Given the description of an element on the screen output the (x, y) to click on. 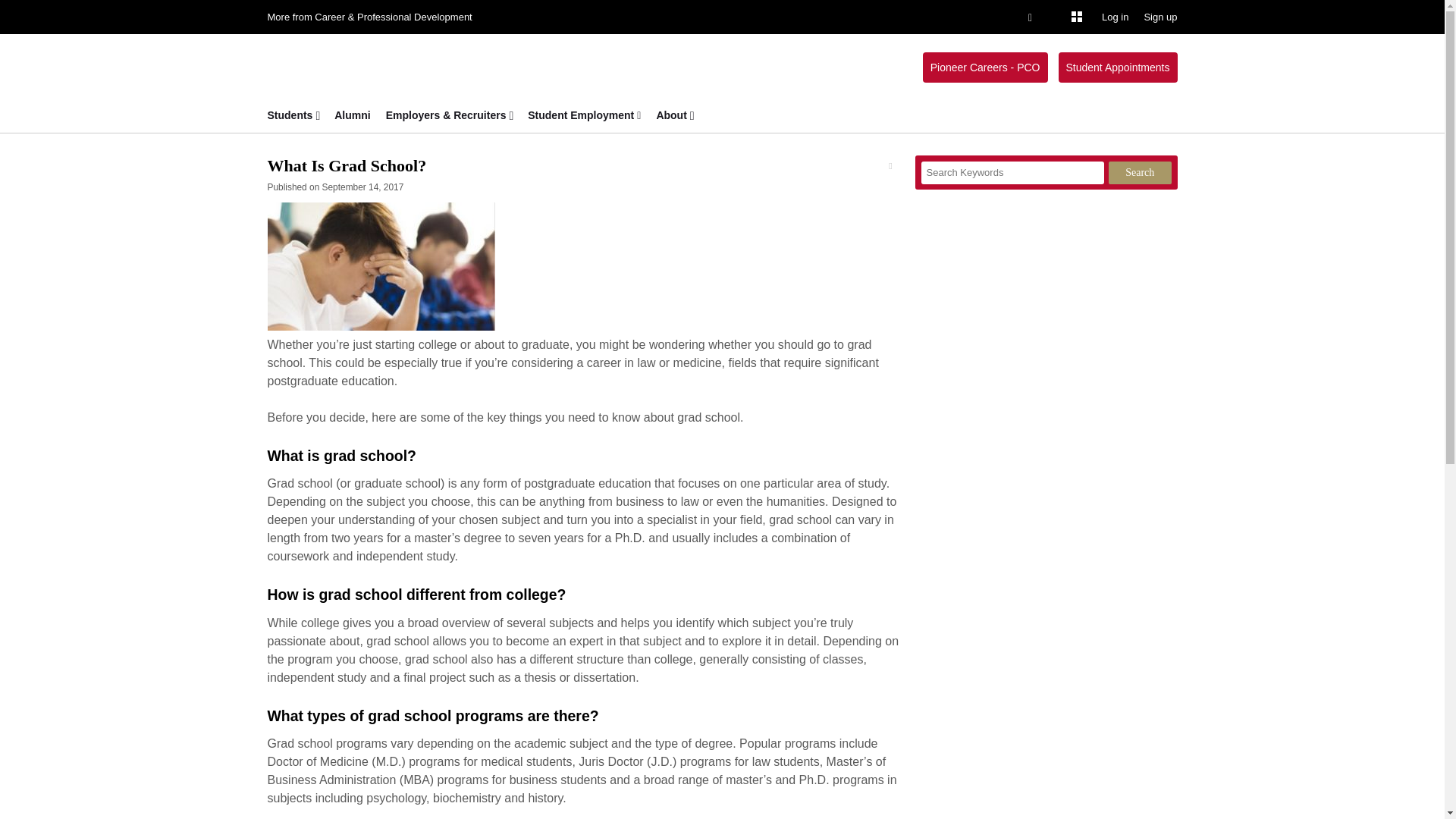
Pioneer Careers - PCO (985, 67)
Sign up for an account (1159, 17)
Submit Search (38, 9)
Students (286, 115)
becoming-a-caq-auditor (380, 266)
Search (1140, 172)
Student Appointments (1117, 67)
Sign up (1159, 17)
